Given the description of an element on the screen output the (x, y) to click on. 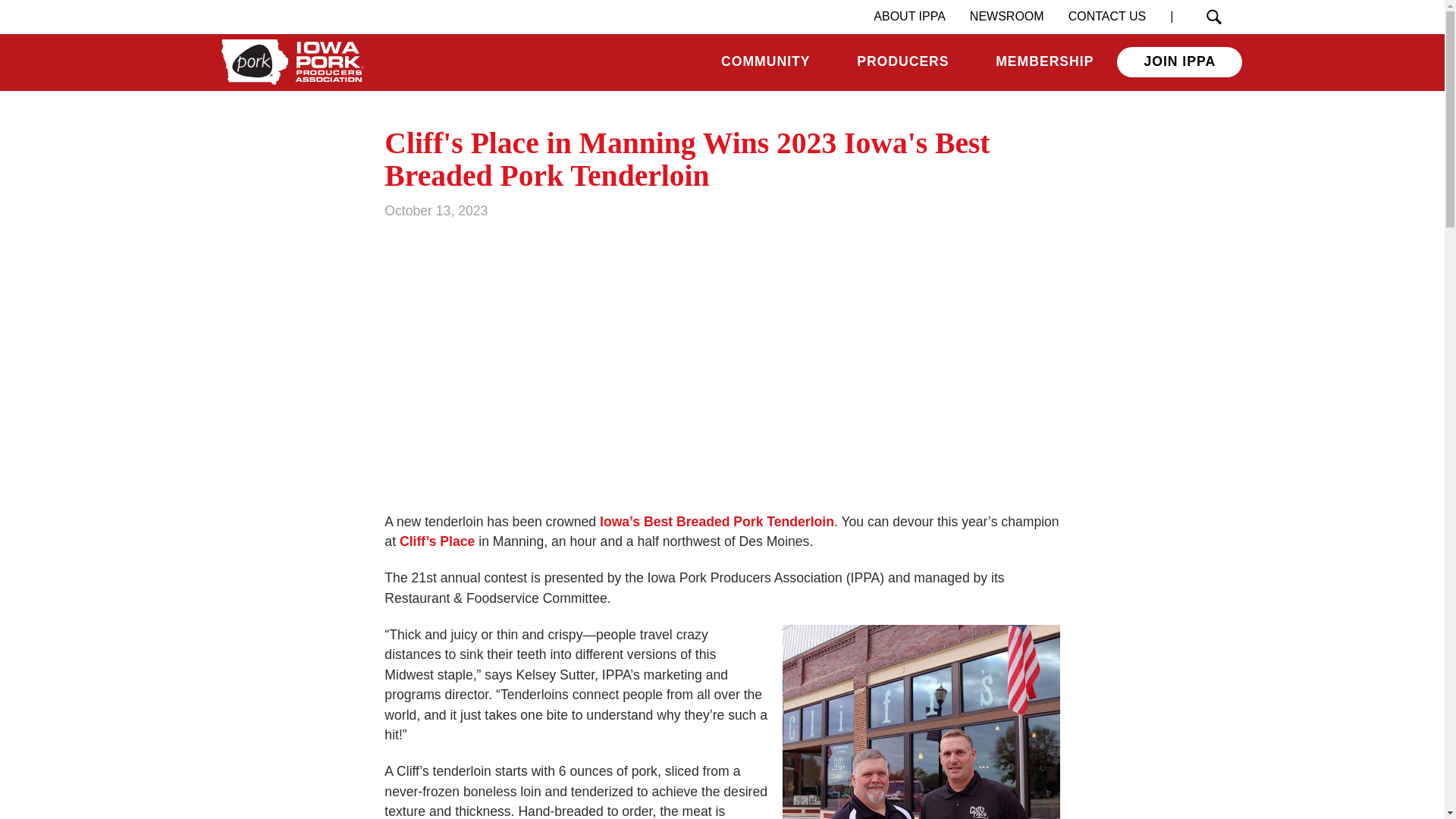
Search (1213, 17)
NEWSROOM (1007, 17)
Iowa Pork Producers Association. Link to homepage (289, 62)
CONTACT US (1107, 17)
ABOUT IPPA (909, 17)
